Given the description of an element on the screen output the (x, y) to click on. 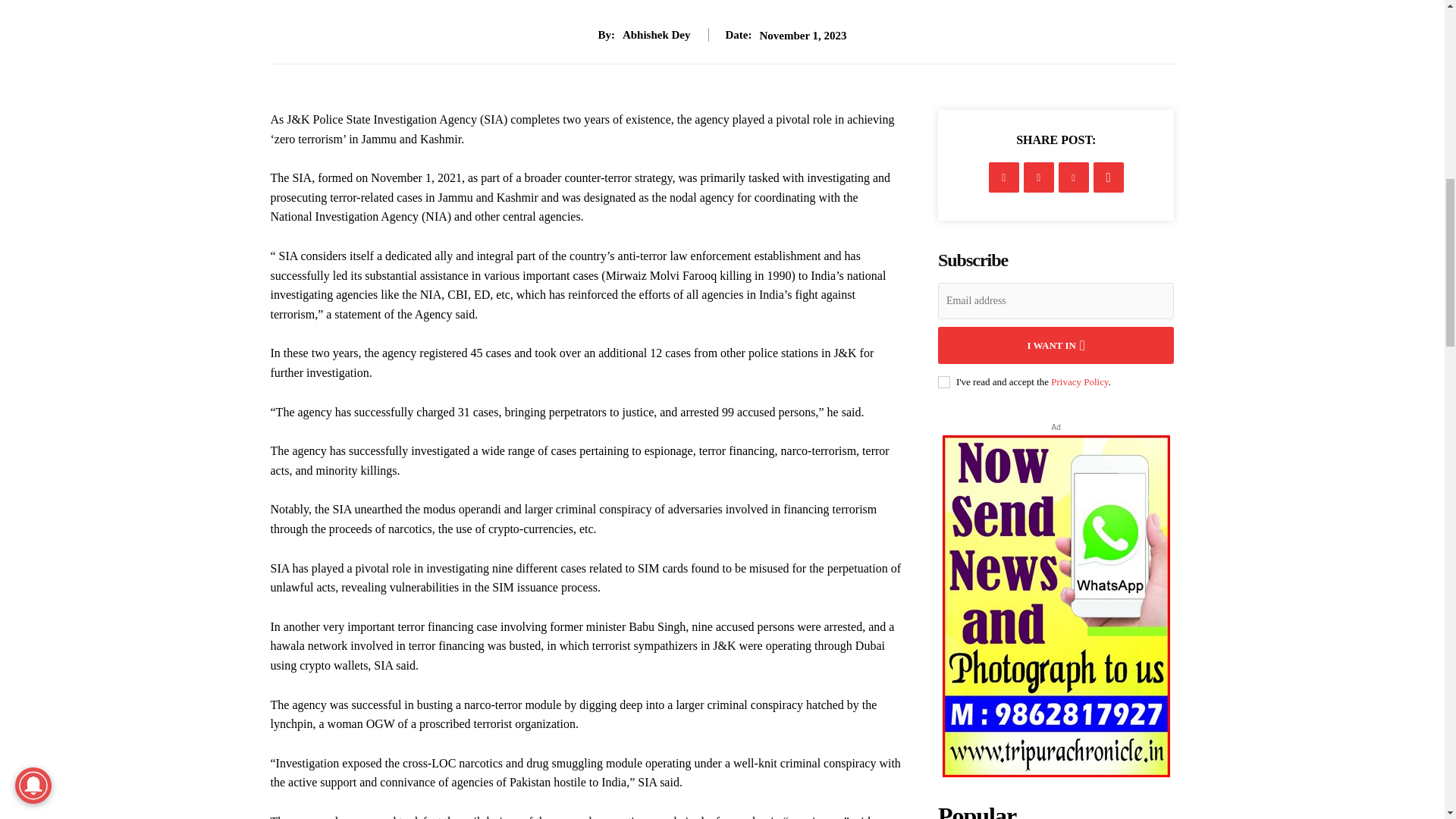
Facebook (1003, 177)
WhatsApp (1108, 177)
Pinterest (1073, 177)
Twitter (1038, 177)
